Given the description of an element on the screen output the (x, y) to click on. 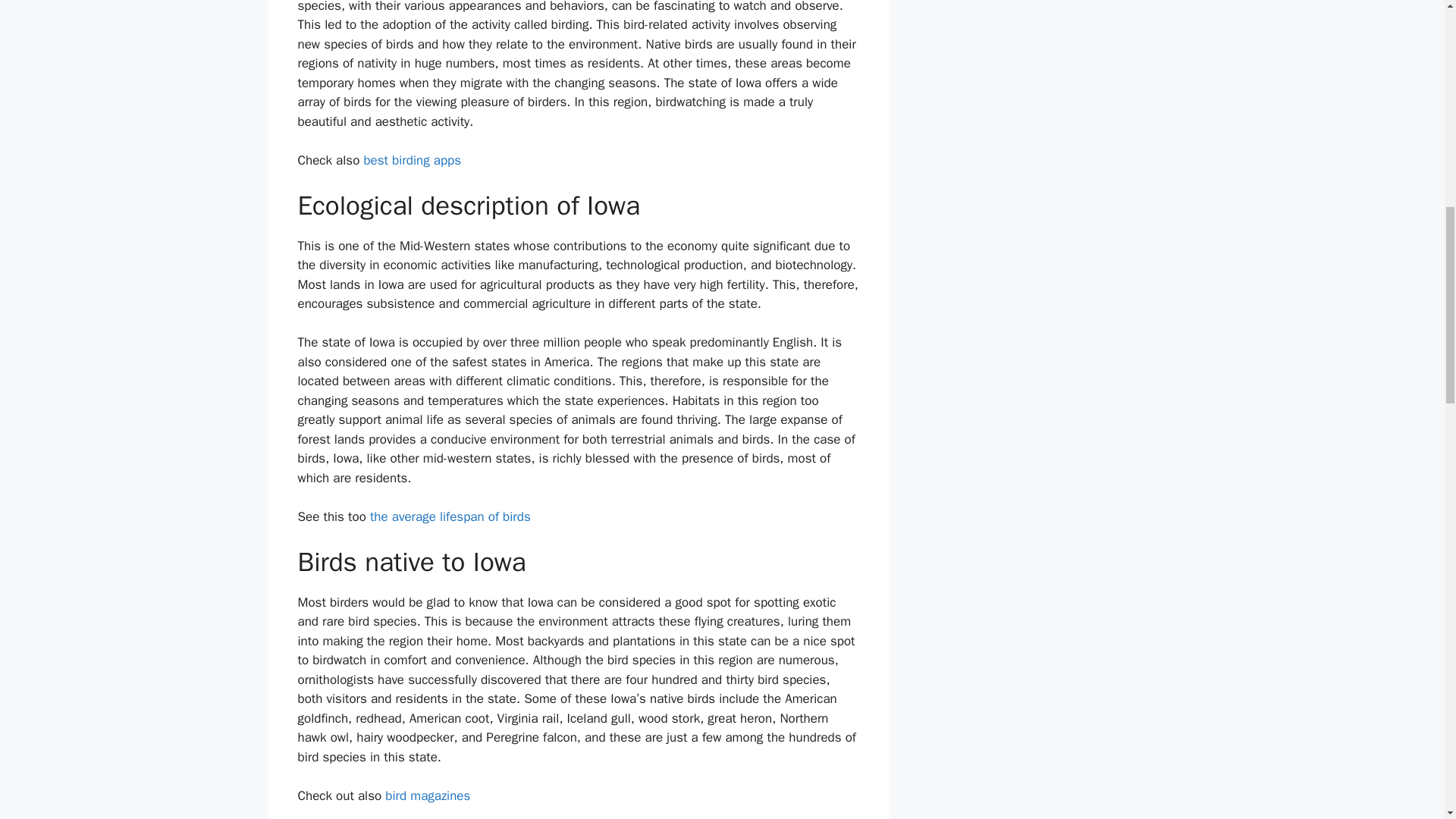
best birding apps (411, 160)
the average lifespan of birds (450, 516)
bird magazines (427, 795)
